Given the description of an element on the screen output the (x, y) to click on. 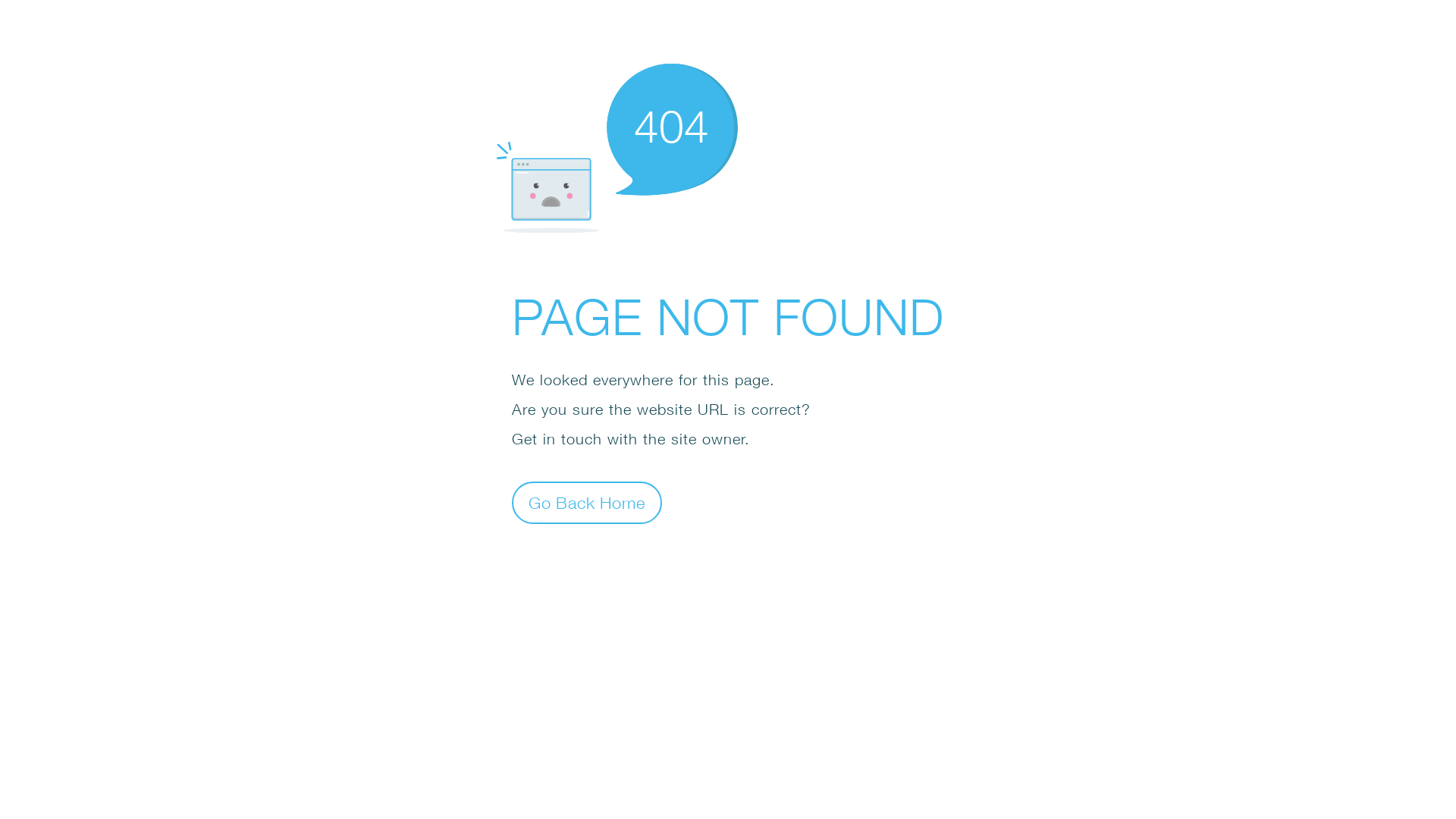
Go Back Home Element type: text (586, 502)
